Given the description of an element on the screen output the (x, y) to click on. 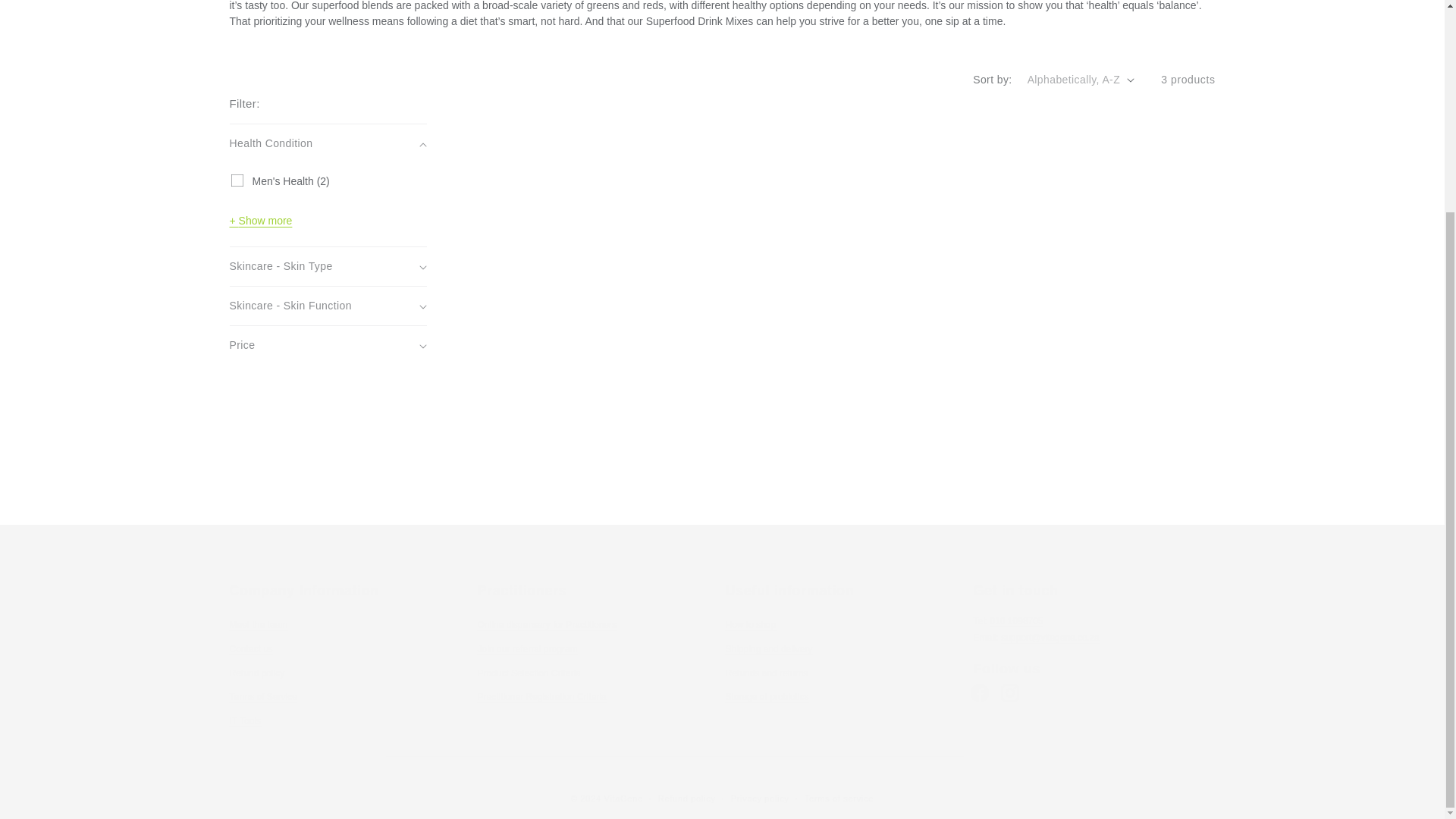
Men's Health (236, 180)
